Given the description of an element on the screen output the (x, y) to click on. 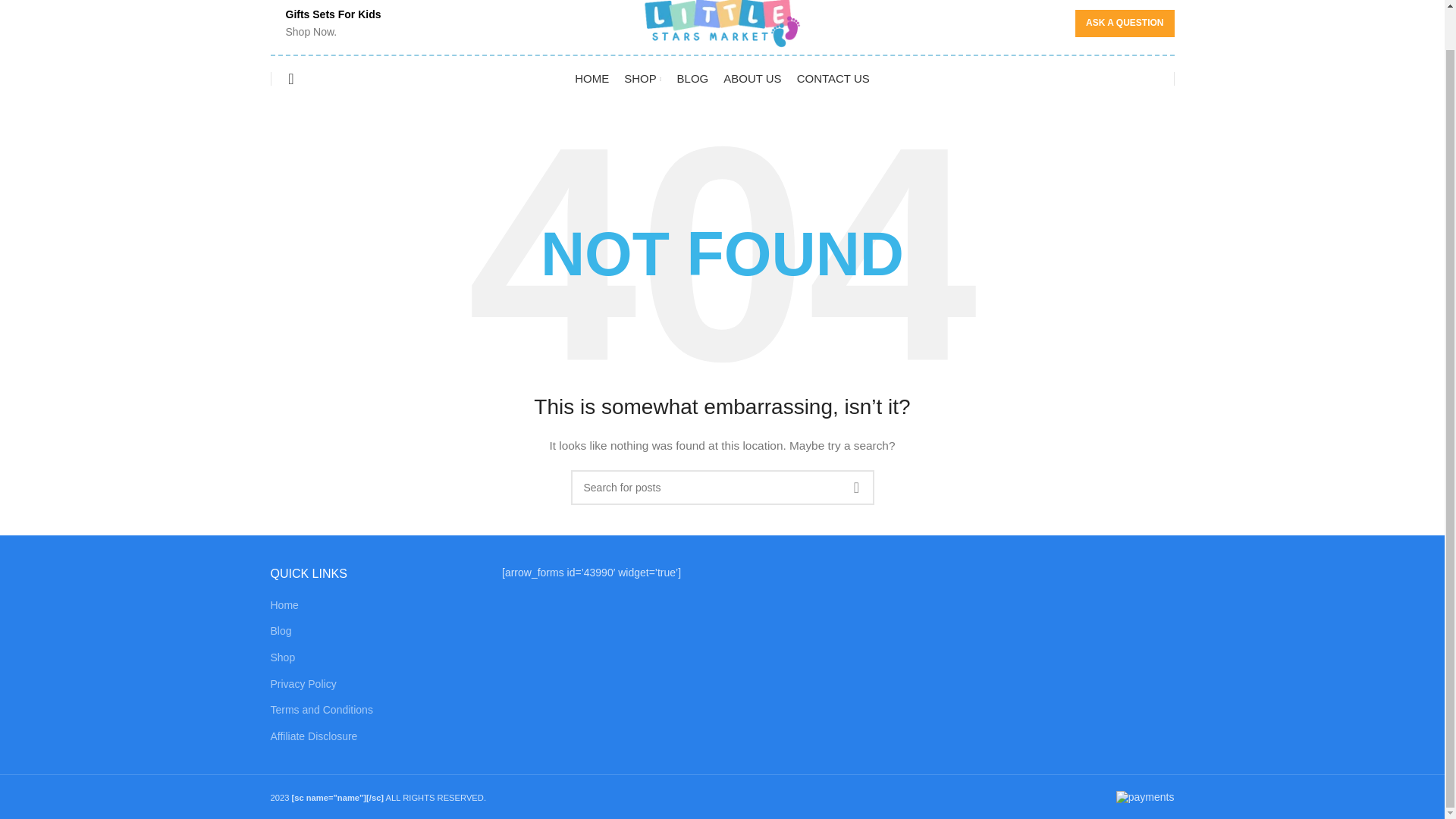
SHOP (642, 78)
ASK A QUESTION (1124, 22)
HOME (591, 78)
Search for posts (721, 487)
